Given the description of an element on the screen output the (x, y) to click on. 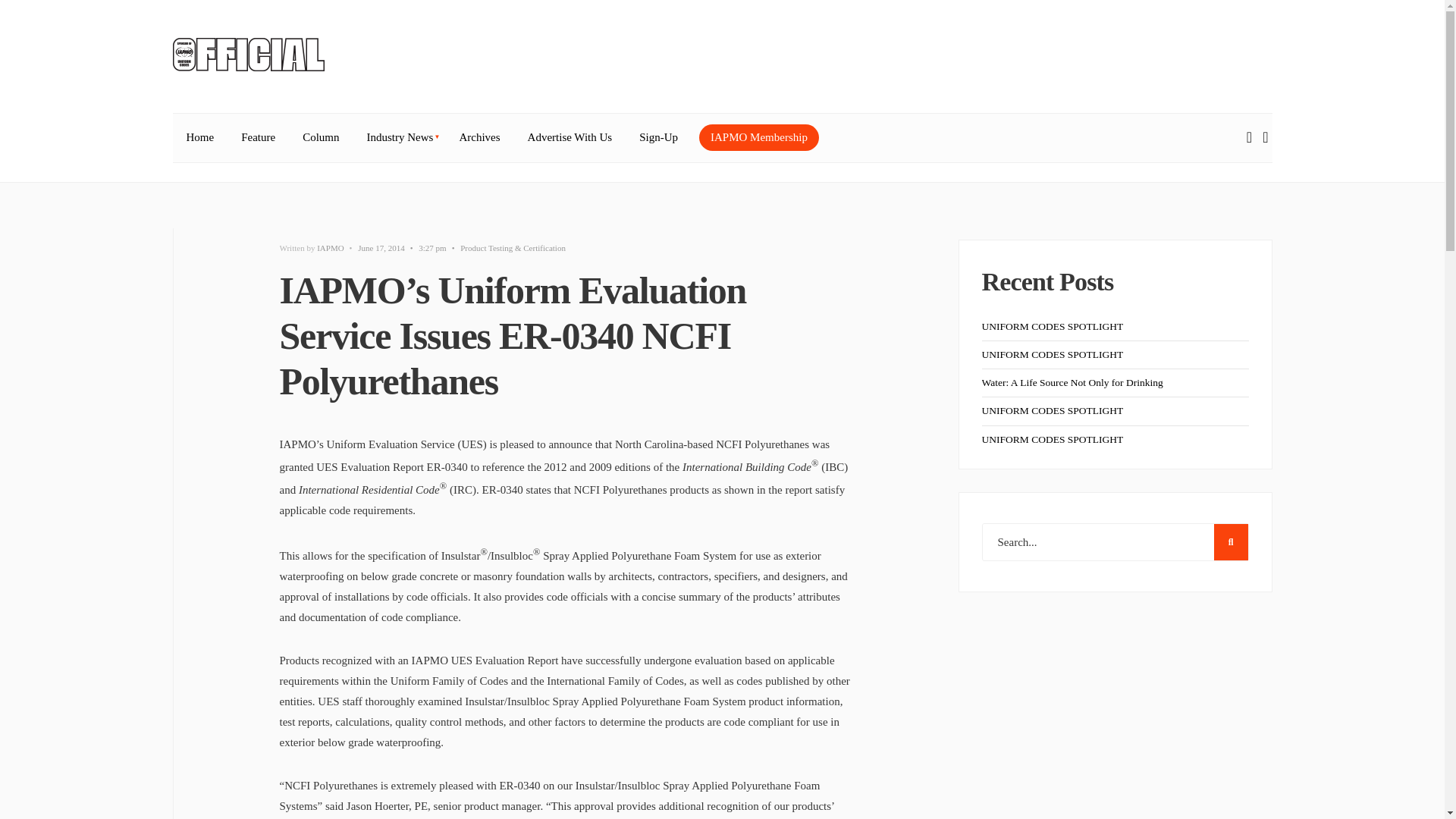
UNIFORM CODES SPOTLIGHT (1051, 410)
Search... (1114, 542)
Feature (257, 137)
IAPMO (330, 247)
Sign-Up (658, 137)
Advertise With Us (569, 137)
UNIFORM CODES SPOTLIGHT (1051, 354)
Water: A Life Source Not Only for Drinking (1071, 382)
Industry News (399, 137)
IAPMO Membership (758, 137)
